Given the description of an element on the screen output the (x, y) to click on. 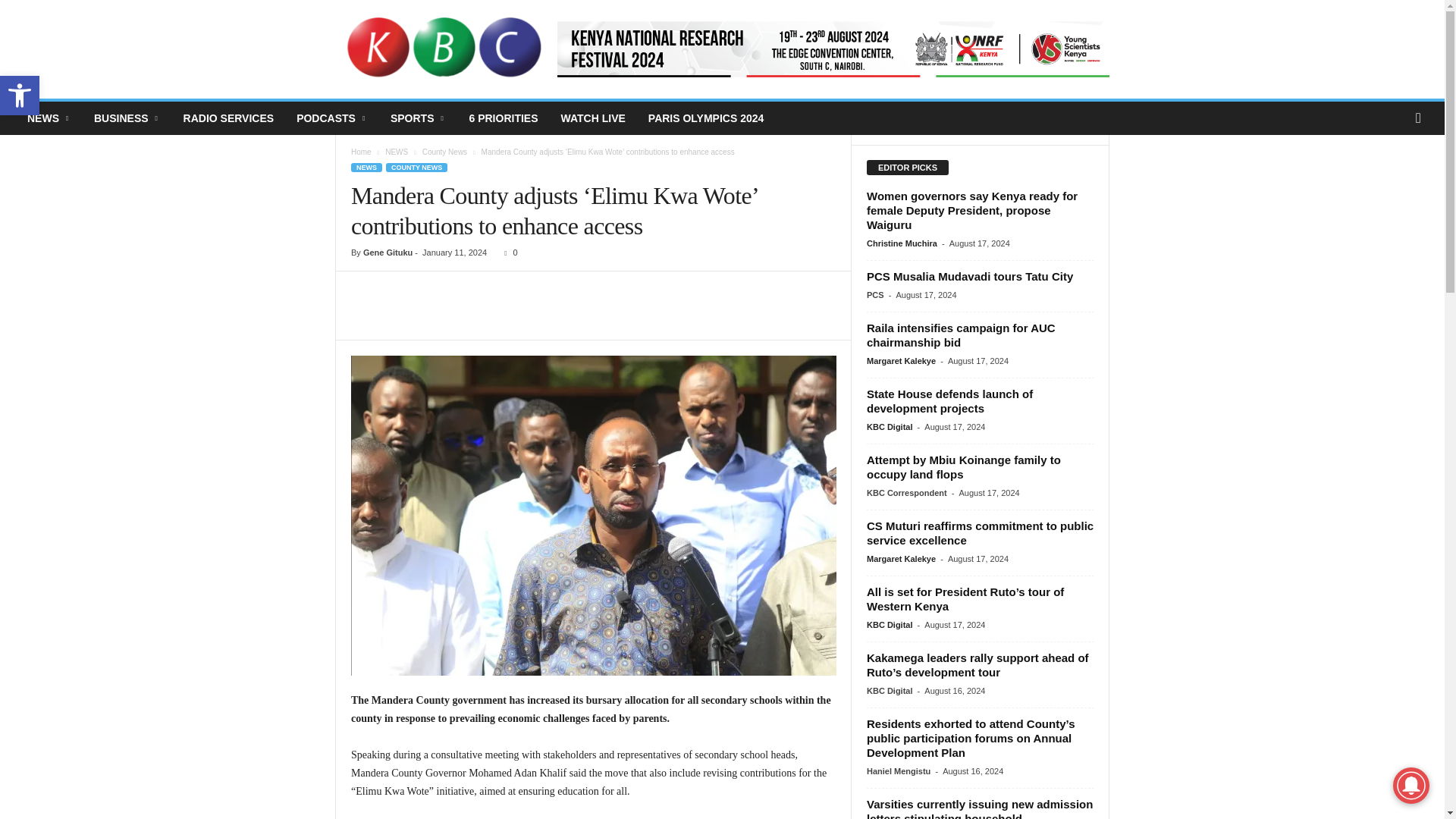
Accessibility Tools (19, 95)
Accessibility Tools (19, 95)
